Given the description of an element on the screen output the (x, y) to click on. 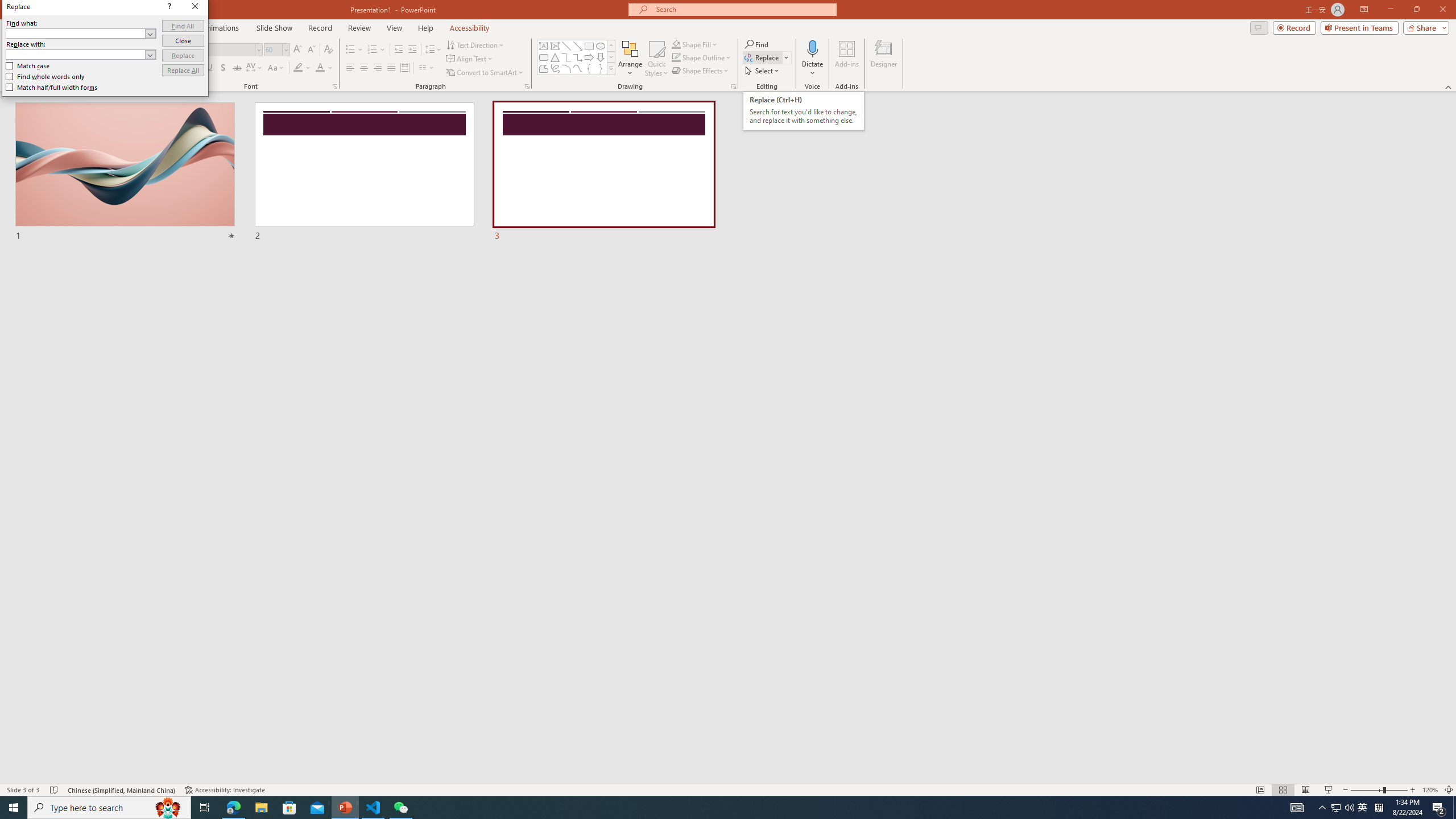
Find whole words only (45, 76)
Match half/full width forms (52, 86)
